Given the description of an element on the screen output the (x, y) to click on. 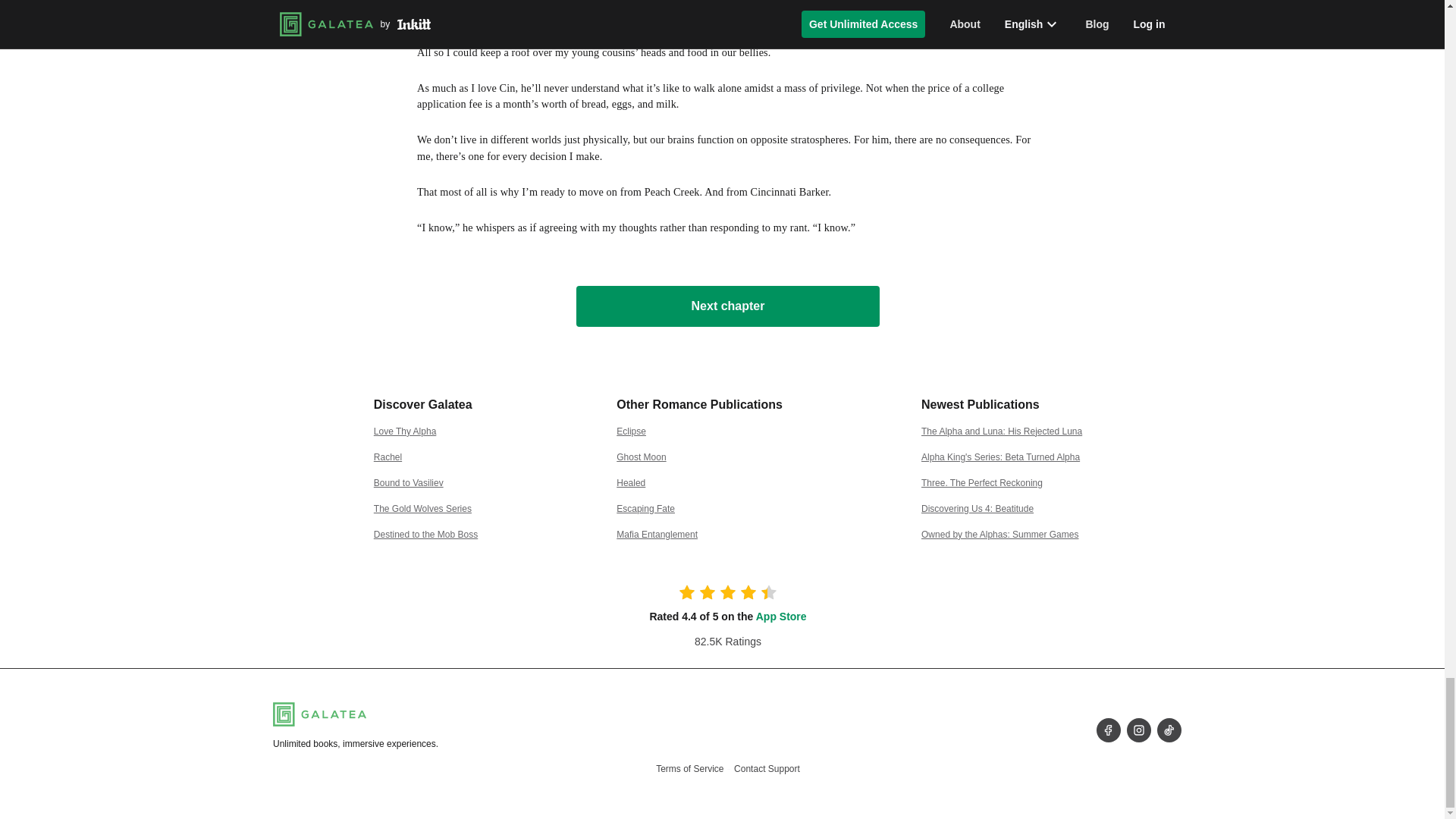
Mafia Entanglement (656, 534)
Next chapter (727, 305)
Destined to the Mob Boss (425, 534)
Rachel (387, 457)
Escaping Fate (645, 508)
The Gold Wolves Series (422, 508)
Eclipse (630, 430)
Bound to Vasiliev (409, 482)
Ghost Moon (640, 457)
Healed (630, 482)
The Alpha and Luna: His Rejected Luna (1001, 430)
Love Thy Alpha (405, 430)
